Given the description of an element on the screen output the (x, y) to click on. 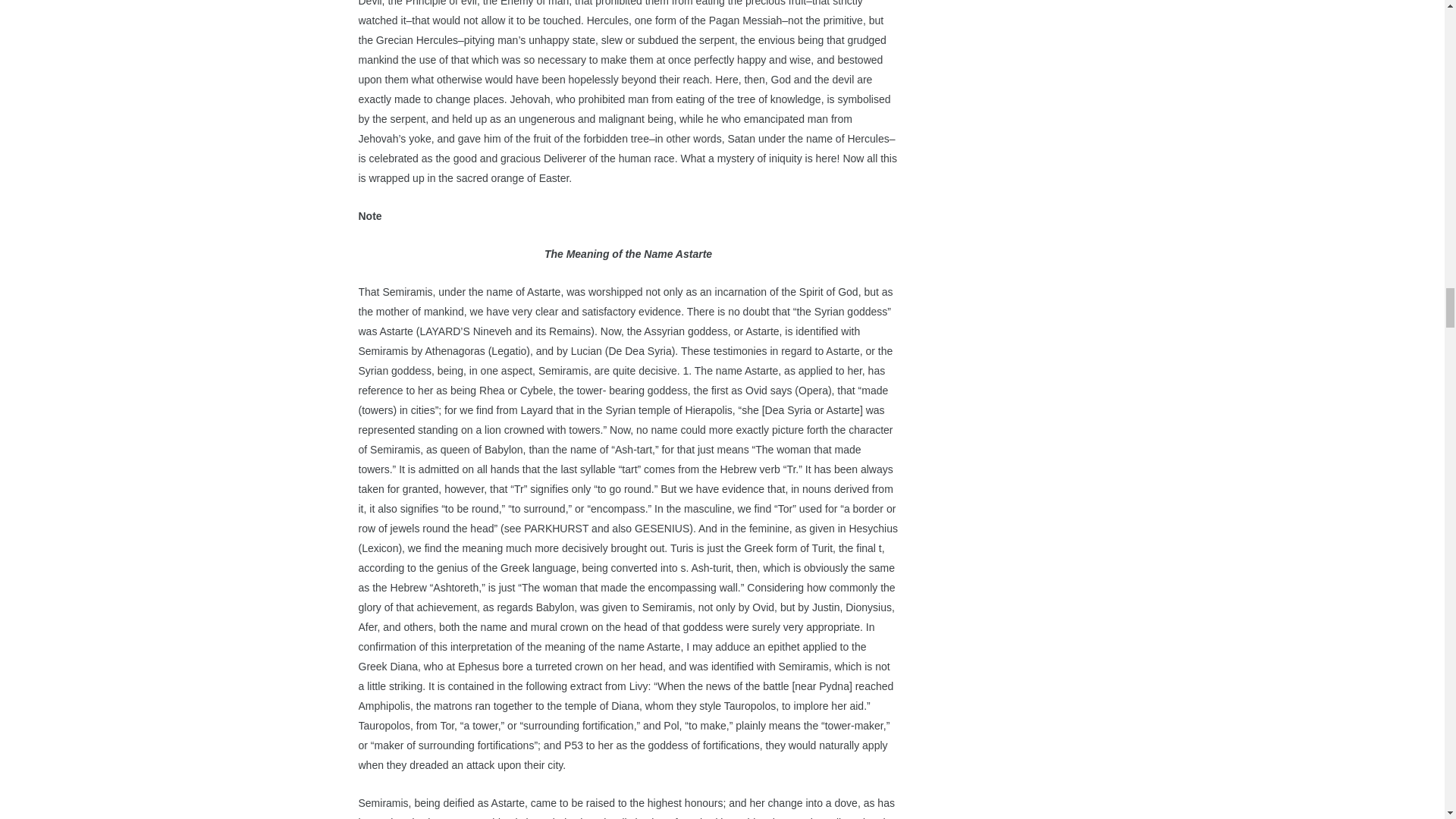
Page 99 (628, 806)
